Given the description of an element on the screen output the (x, y) to click on. 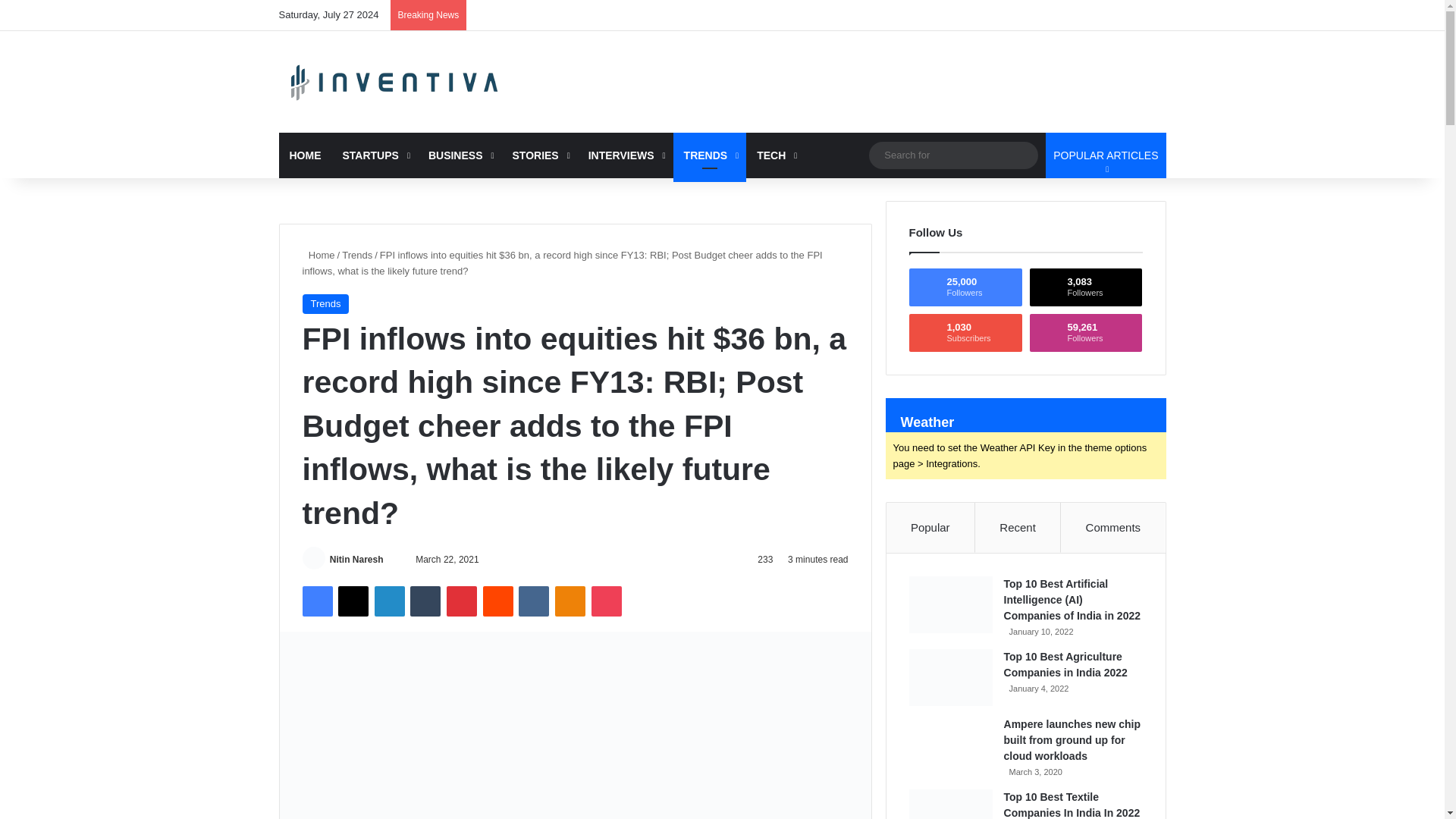
Nitin Naresh (357, 559)
Inventiva (395, 81)
Pinterest (461, 601)
STARTUPS (374, 155)
LinkedIn (389, 601)
X (352, 601)
Search for (953, 154)
Tumblr (425, 601)
HOME (305, 155)
BUSINESS (459, 155)
Reddit (498, 601)
Facebook (316, 601)
VKontakte (533, 601)
